Given the description of an element on the screen output the (x, y) to click on. 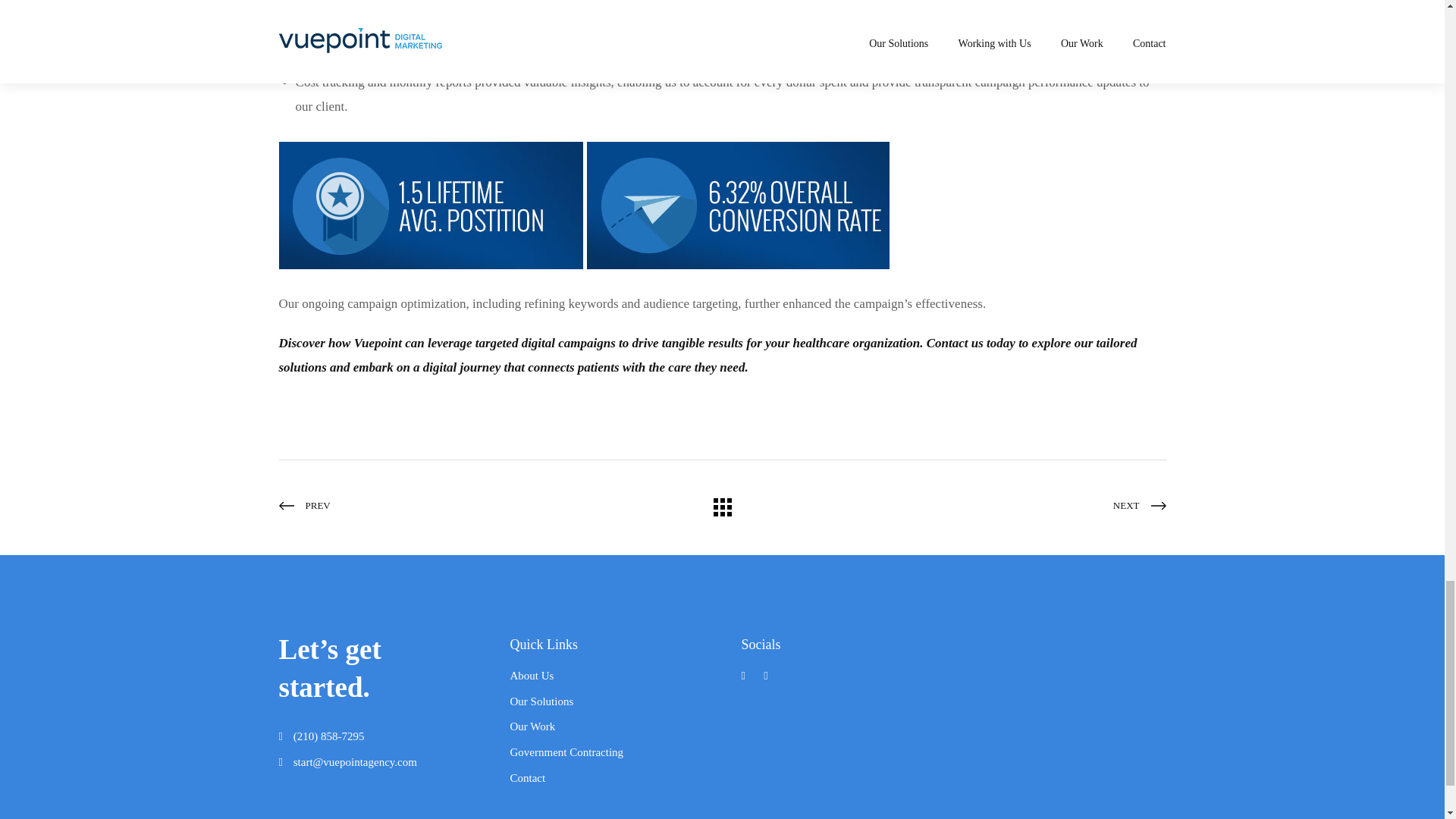
About Us (531, 675)
Our Solutions (541, 701)
Contact (526, 777)
Our Work (531, 726)
Government Contracting (566, 752)
Email Us (355, 761)
PREV (427, 505)
